Given the description of an element on the screen output the (x, y) to click on. 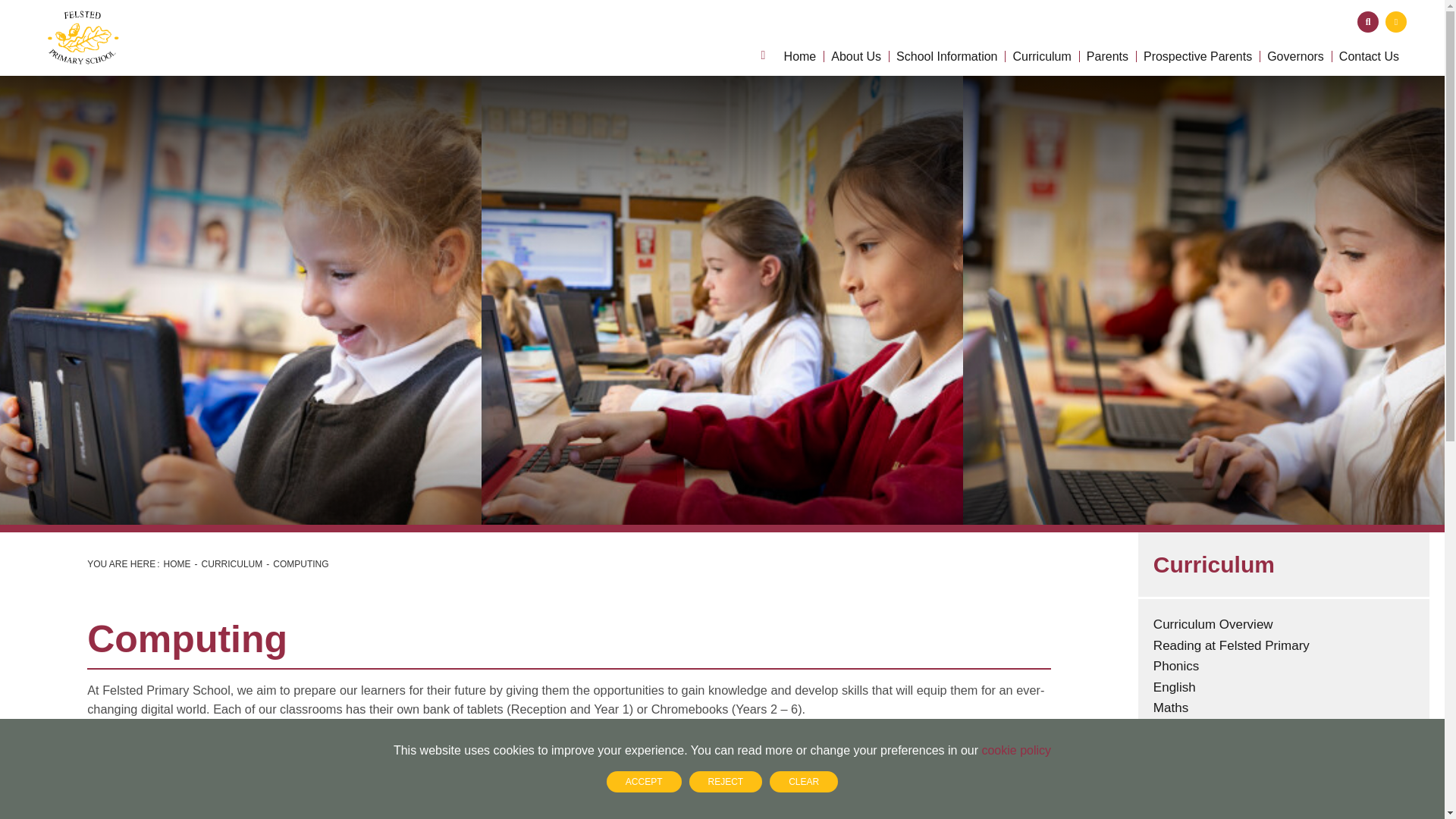
School Information (946, 38)
School Information (946, 38)
Curriculum (1041, 38)
Curriculum (1041, 38)
